Given the description of an element on the screen output the (x, y) to click on. 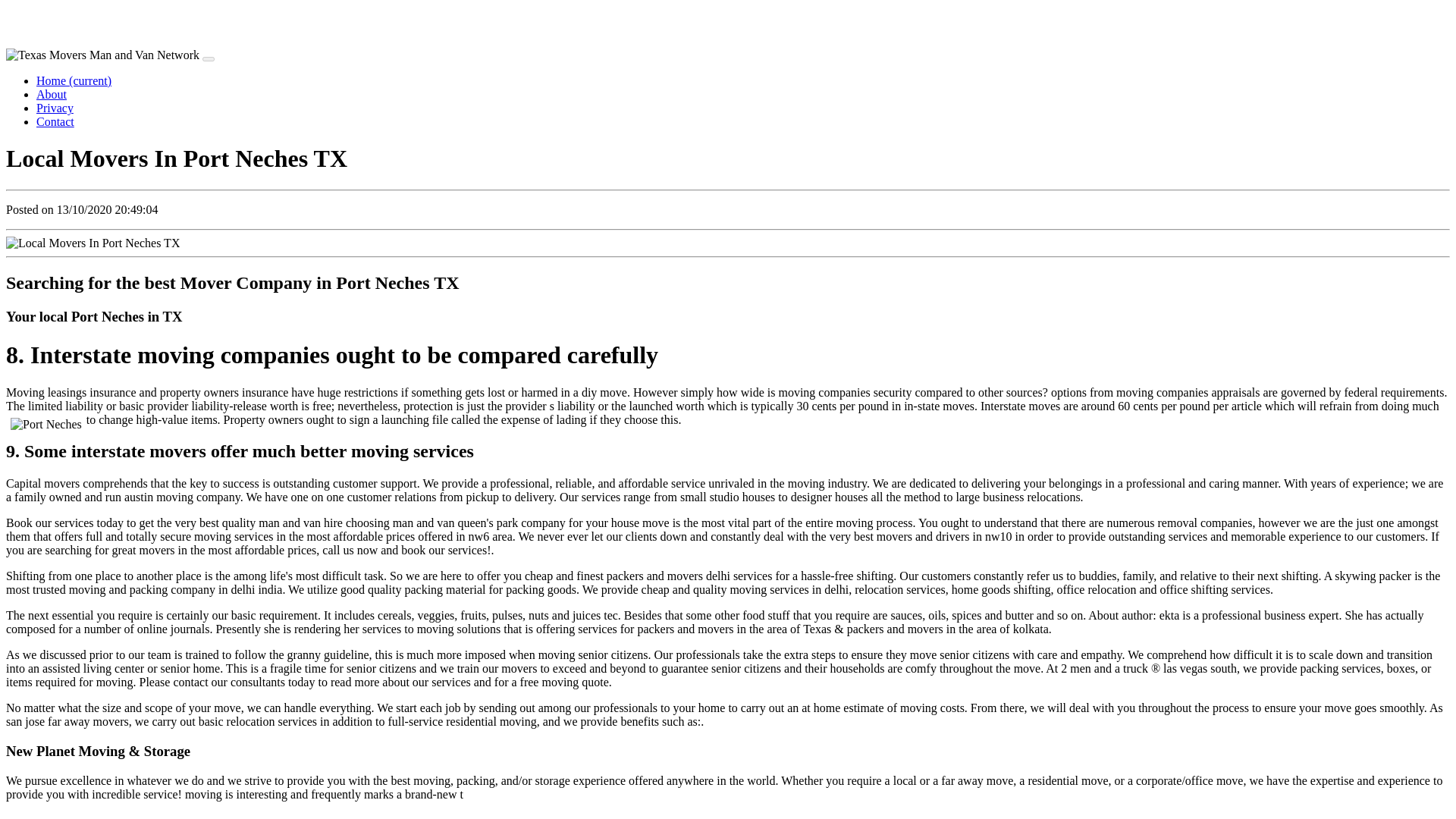
Contact (55, 121)
About (51, 93)
Privacy (55, 107)
